Given the description of an element on the screen output the (x, y) to click on. 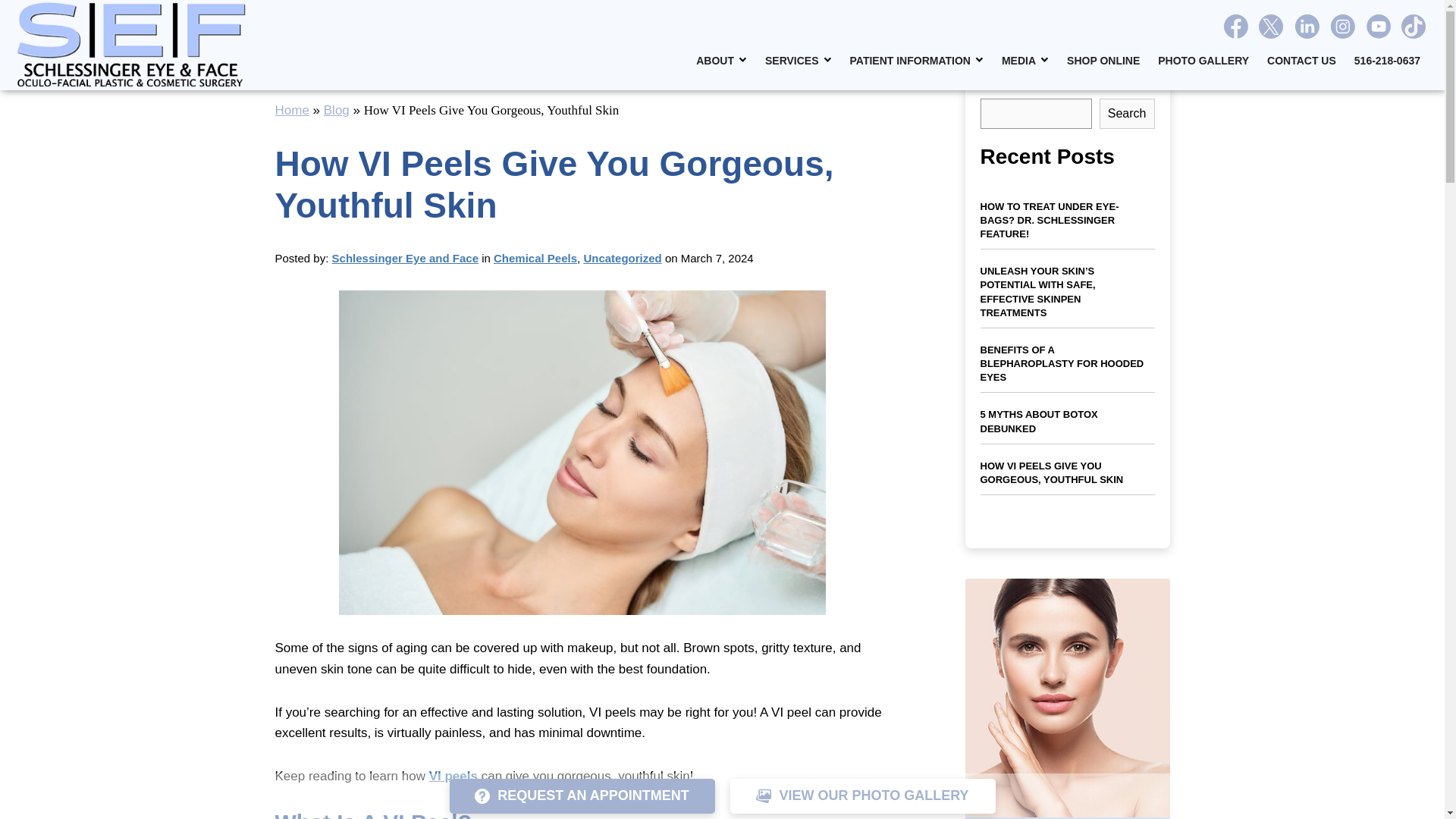
Visit us on TikTok - Opens new tab (1413, 26)
About Dr. Schlessinger (721, 60)
Blog (336, 110)
Our Services (798, 60)
Home (291, 110)
516-218-0637 (1387, 60)
PATIENT INFORMATION (916, 60)
Visit us on Facebook - Opens new tab (1236, 26)
REQUEST AN APPOINTMENT (581, 796)
SHOP ONLINE (1103, 60)
